Given the description of an element on the screen output the (x, y) to click on. 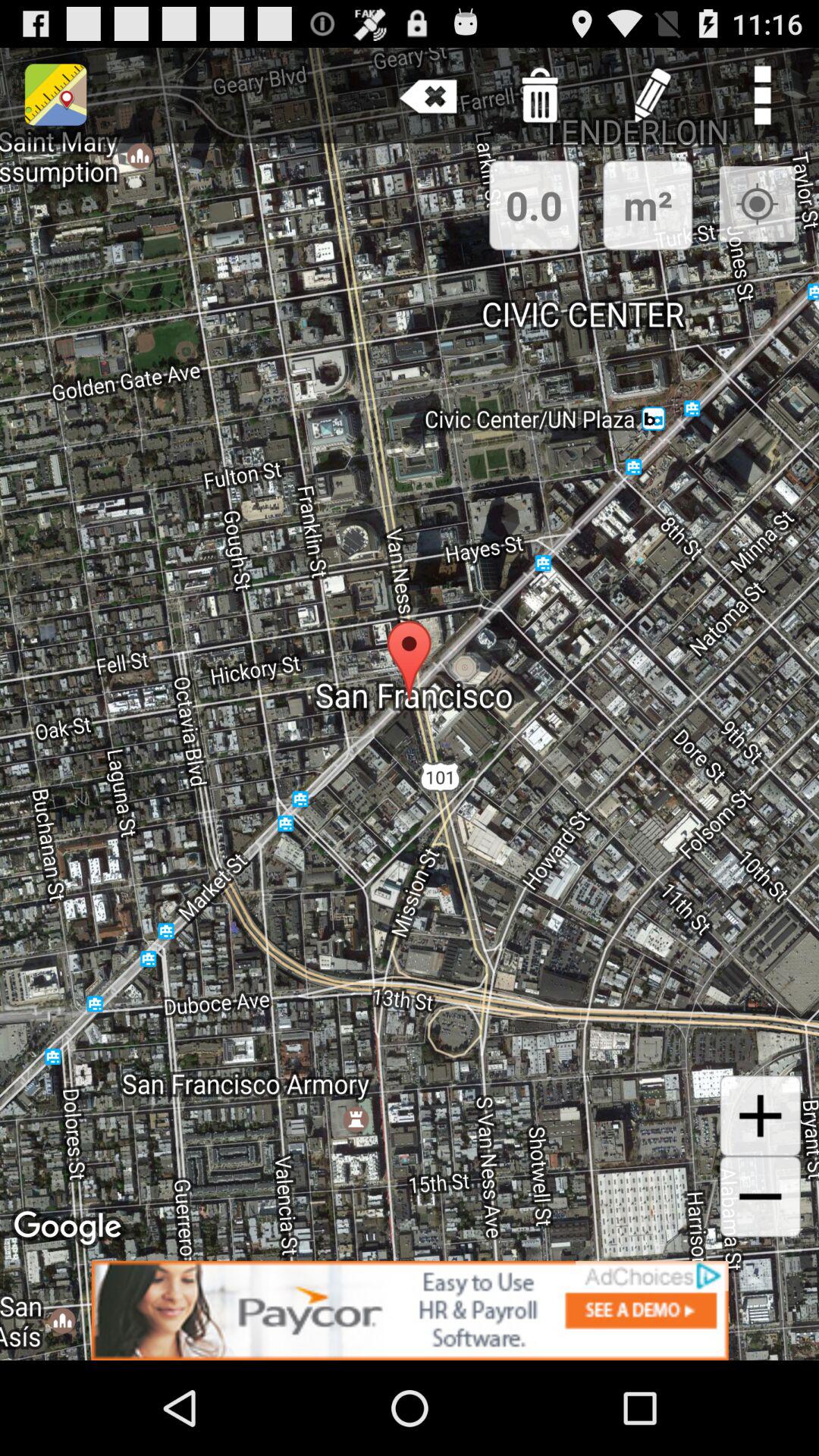
this is the zoom in function to zoom in on the map (760, 1115)
